Given the description of an element on the screen output the (x, y) to click on. 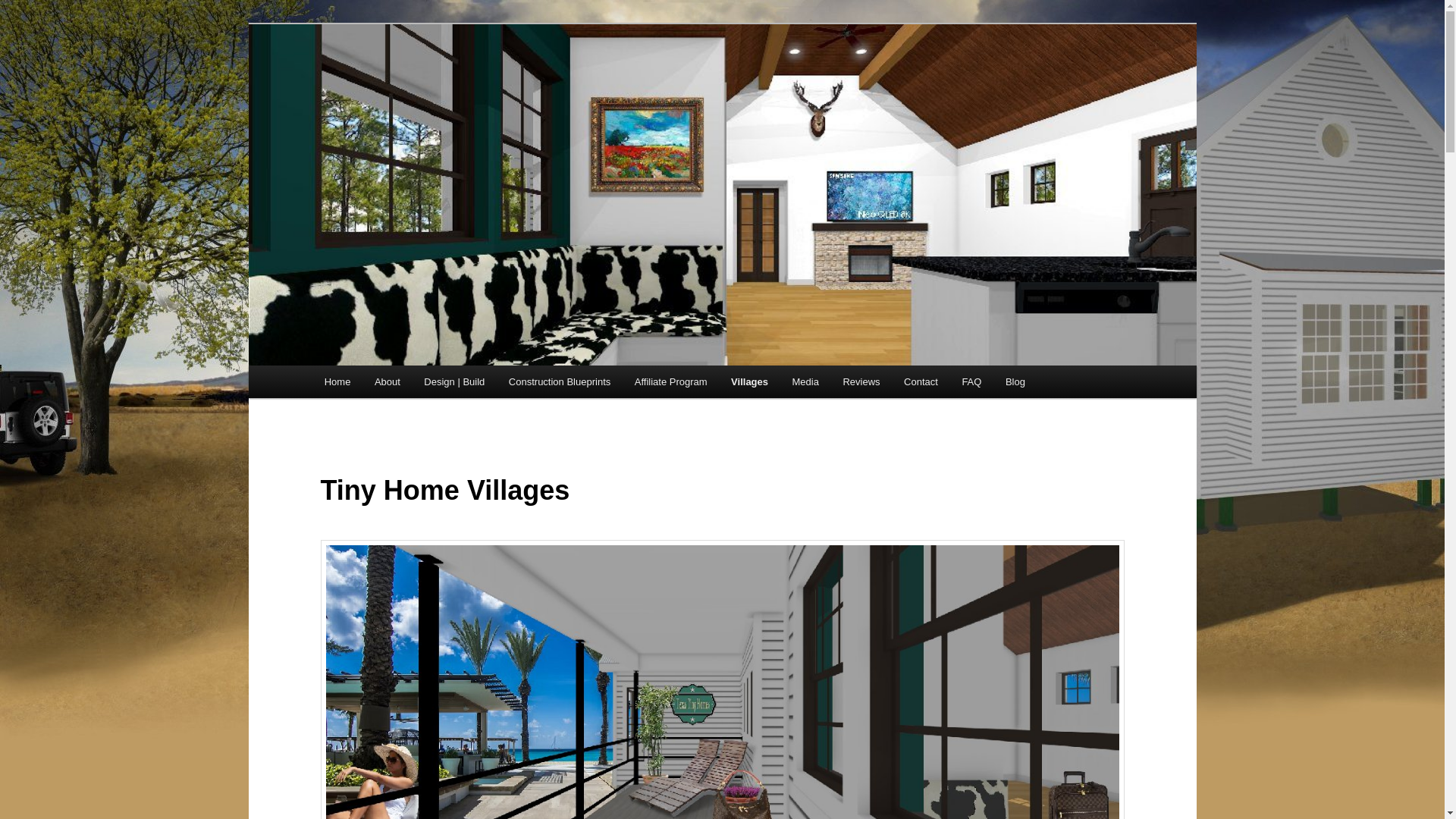
Reviews (861, 381)
Construction Blueprints (559, 381)
Home (337, 381)
Media (805, 381)
Affiliate Program (671, 381)
Texas Tiny Homes (419, 78)
FAQ (972, 381)
Villages (748, 381)
Blog (1014, 381)
